Given the description of an element on the screen output the (x, y) to click on. 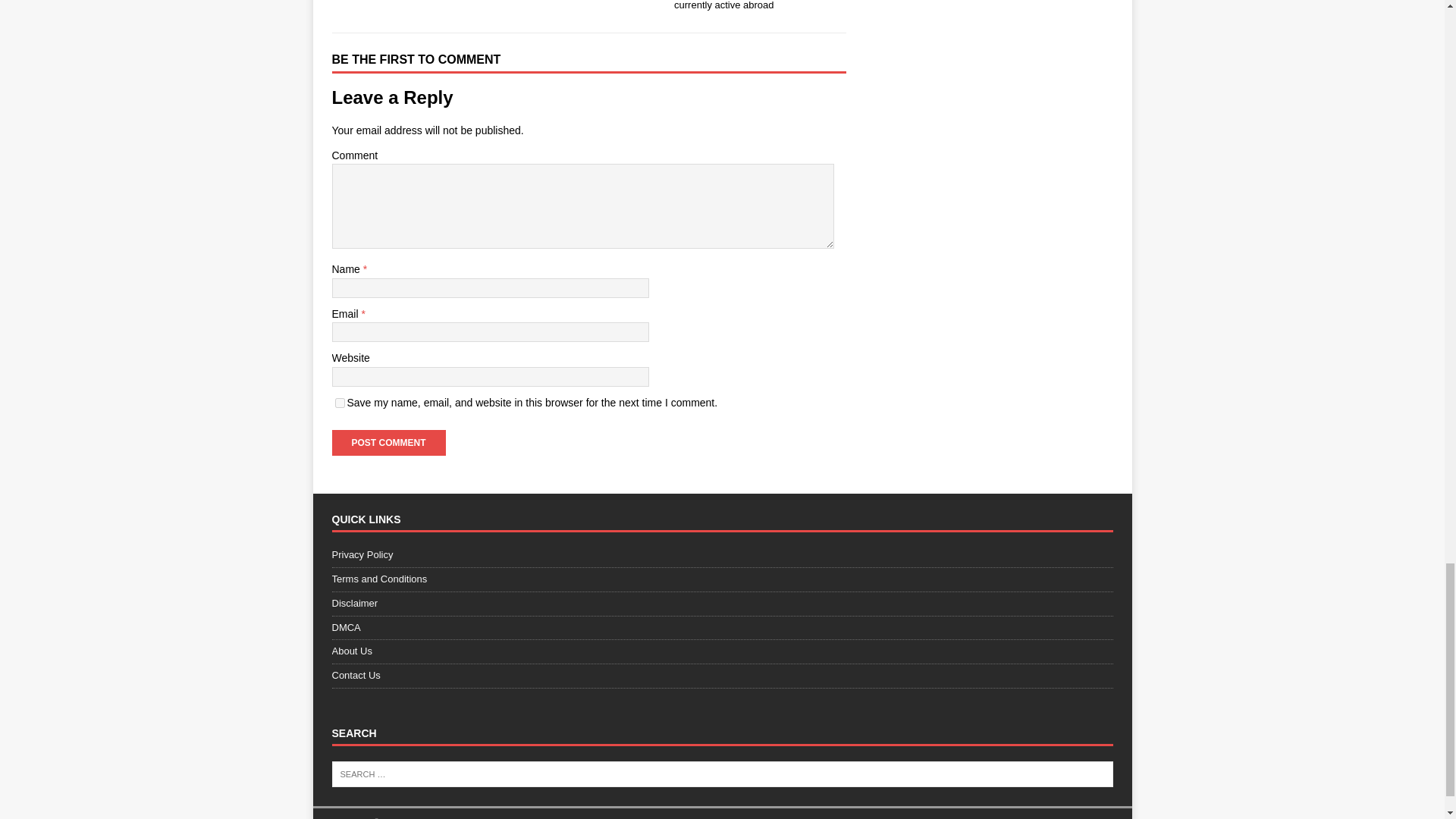
yes (339, 402)
Post Comment (388, 442)
Post Comment (388, 442)
